Given the description of an element on the screen output the (x, y) to click on. 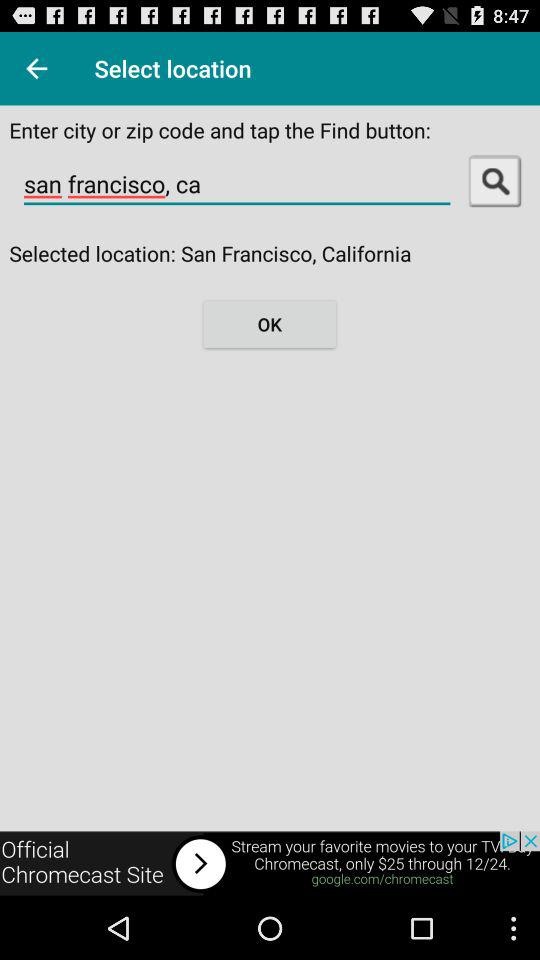
back (36, 68)
